Given the description of an element on the screen output the (x, y) to click on. 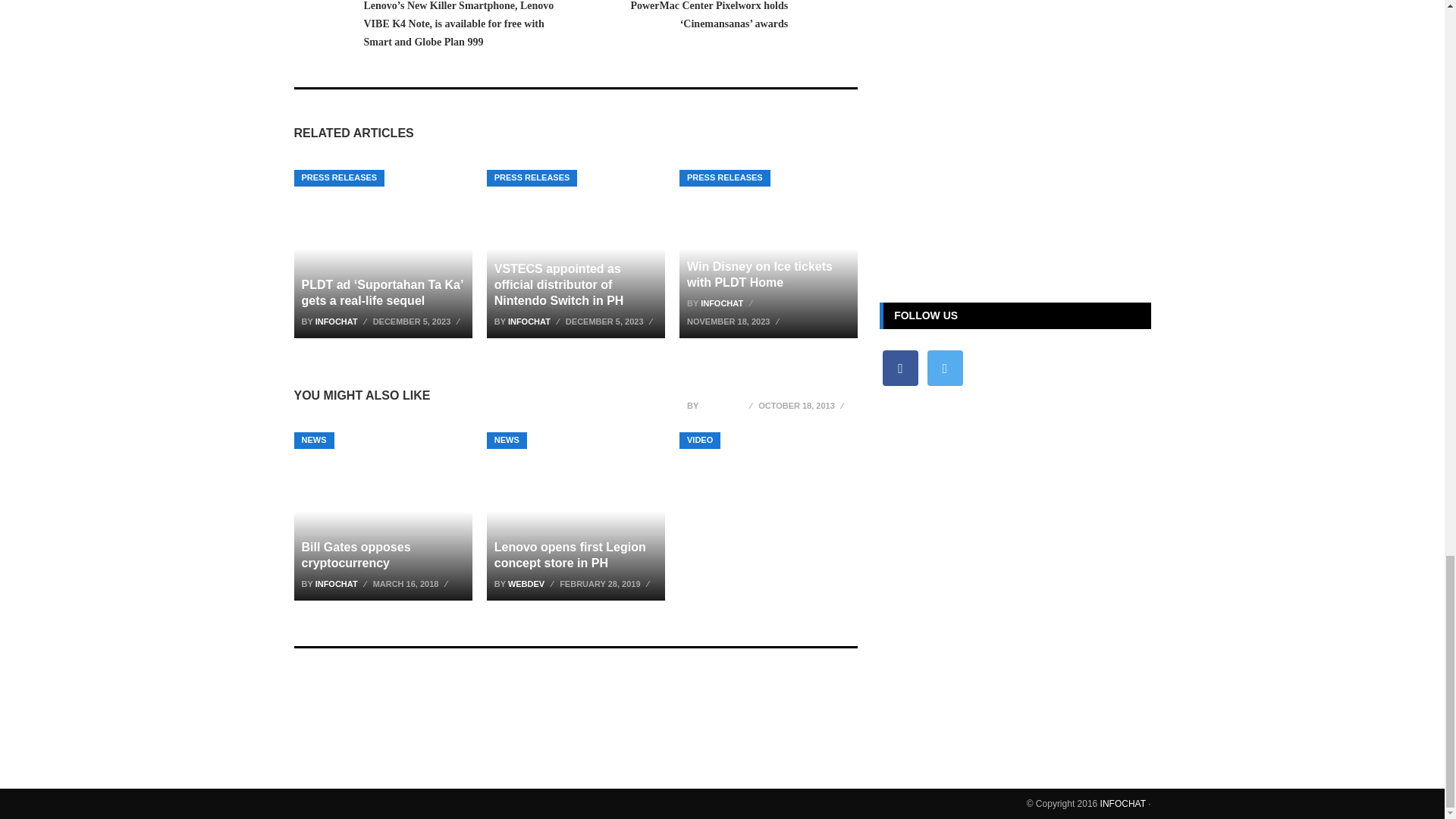
Thursday, February 28, 2019, 5:09 pm (605, 583)
Tuesday, December 5, 2023, 3:27 pm (611, 321)
Friday, October 18, 2013, 5:39 pm (802, 405)
Tuesday, December 5, 2023, 4:47 pm (418, 321)
Saturday, November 18, 2023, 12:48 pm (735, 321)
Friday, March 16, 2018, 1:28 am (411, 583)
